Given the description of an element on the screen output the (x, y) to click on. 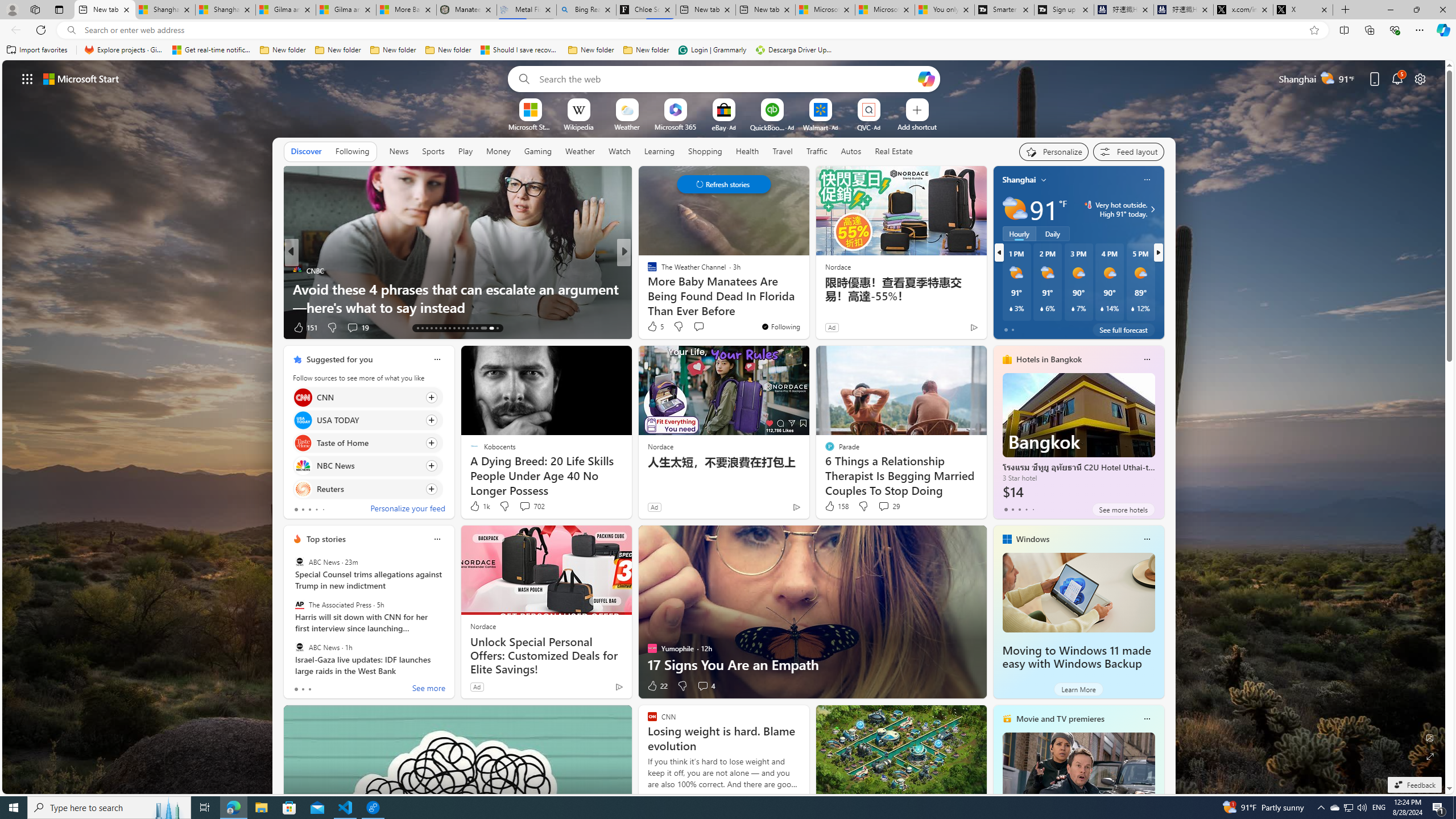
News (398, 151)
tab-3 (1025, 509)
AutomationID: tab-39 (476, 328)
5 Like (655, 326)
AutomationID: tab-15 (426, 328)
Traffic (816, 151)
Partly sunny (1014, 208)
My location (1043, 179)
Click to follow source NBC News (367, 465)
